Given the description of an element on the screen output the (x, y) to click on. 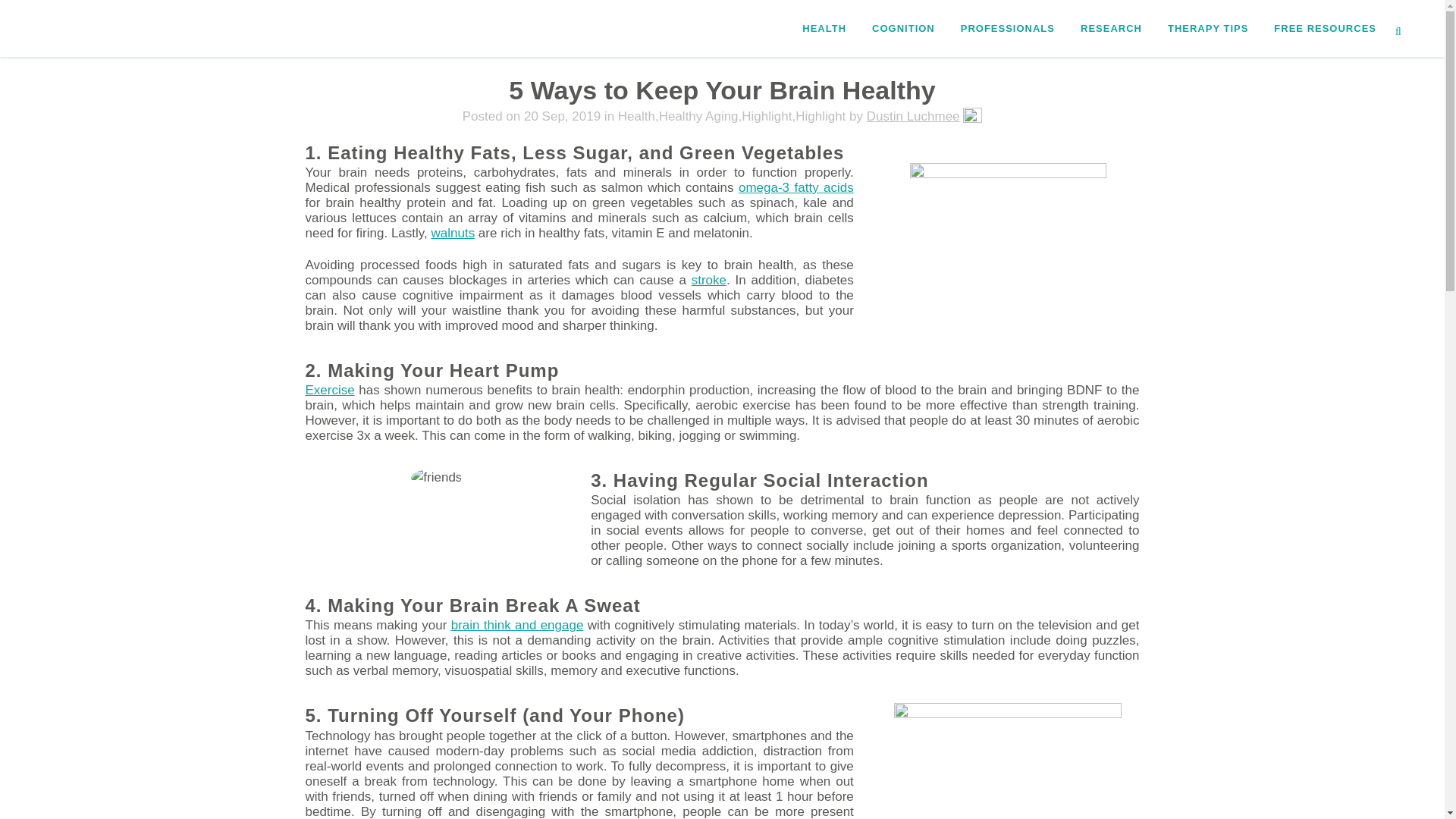
brain think and engage (517, 625)
PROFESSIONALS (1007, 28)
Gardening (1008, 236)
stroke (708, 279)
walnuts (452, 233)
rseau social illustration (1007, 760)
Exercise (328, 390)
friends (435, 477)
THERAPY TIPS (1207, 28)
HEALTH (824, 28)
